Given the description of an element on the screen output the (x, y) to click on. 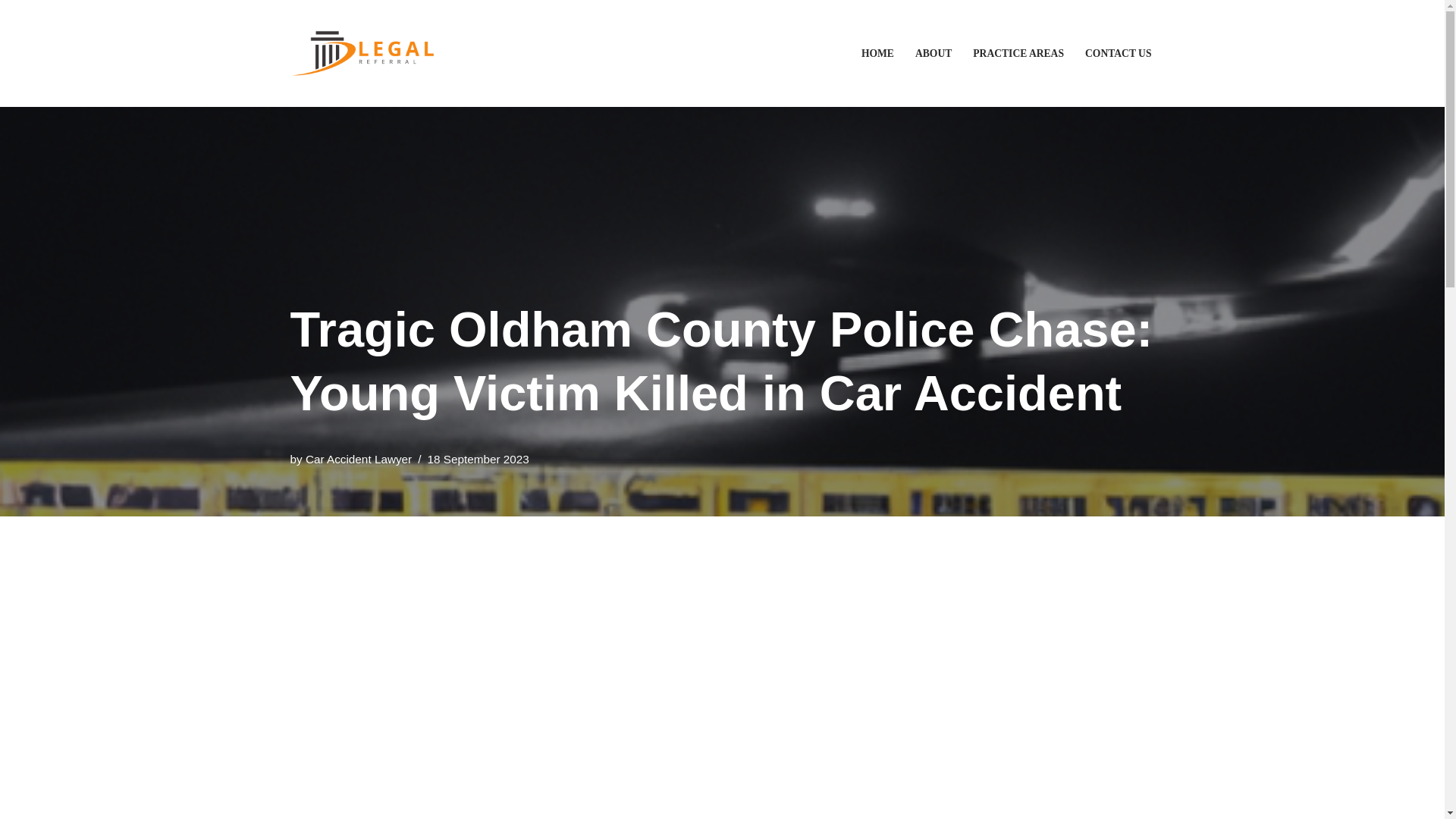
CONTACT US (1117, 53)
Car Accident Lawyer (358, 459)
ABOUT (933, 53)
HOME (877, 53)
PRACTICE AREAS (1018, 53)
Skip to content (11, 31)
Posts by Car Accident Lawyer (358, 459)
